Given the description of an element on the screen output the (x, y) to click on. 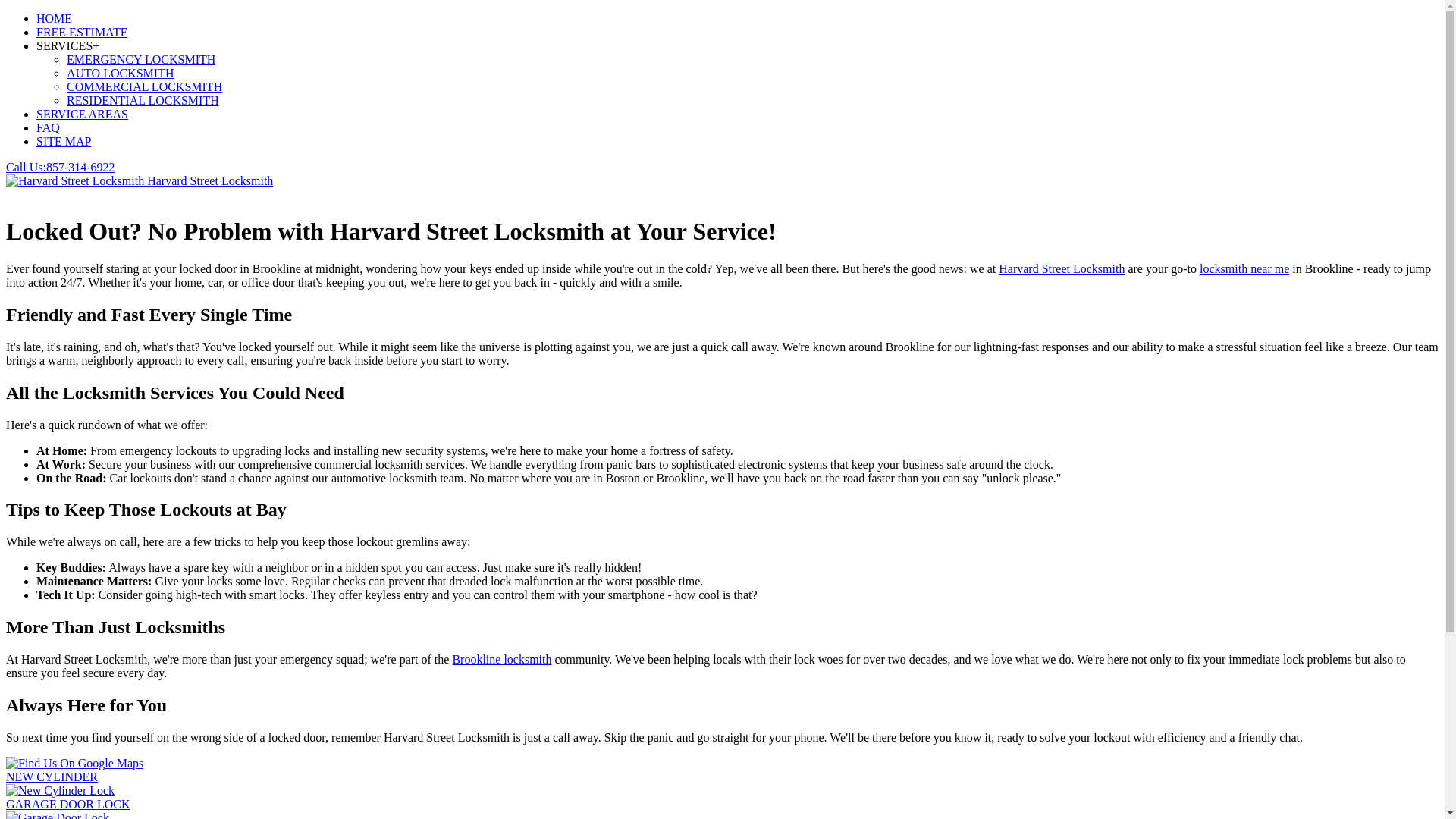
Harvard Street Locksmith (1061, 268)
SERVICE AREAS (82, 113)
FAQ (47, 127)
SITE MAP (63, 141)
locksmith near me (1243, 268)
Harvard Street Locksmith (139, 180)
Call Us:857-314-6922 (60, 166)
Brookline locksmith (501, 658)
FREE ESTIMATE (82, 31)
EMERGENCY LOCKSMITH (140, 59)
Garage Door Lock (57, 815)
Harvard Street Locksmith (74, 181)
Find Us On Google Maps (73, 763)
RESIDENTIAL LOCKSMITH (142, 100)
AUTO LOCKSMITH (119, 72)
